Given the description of an element on the screen output the (x, y) to click on. 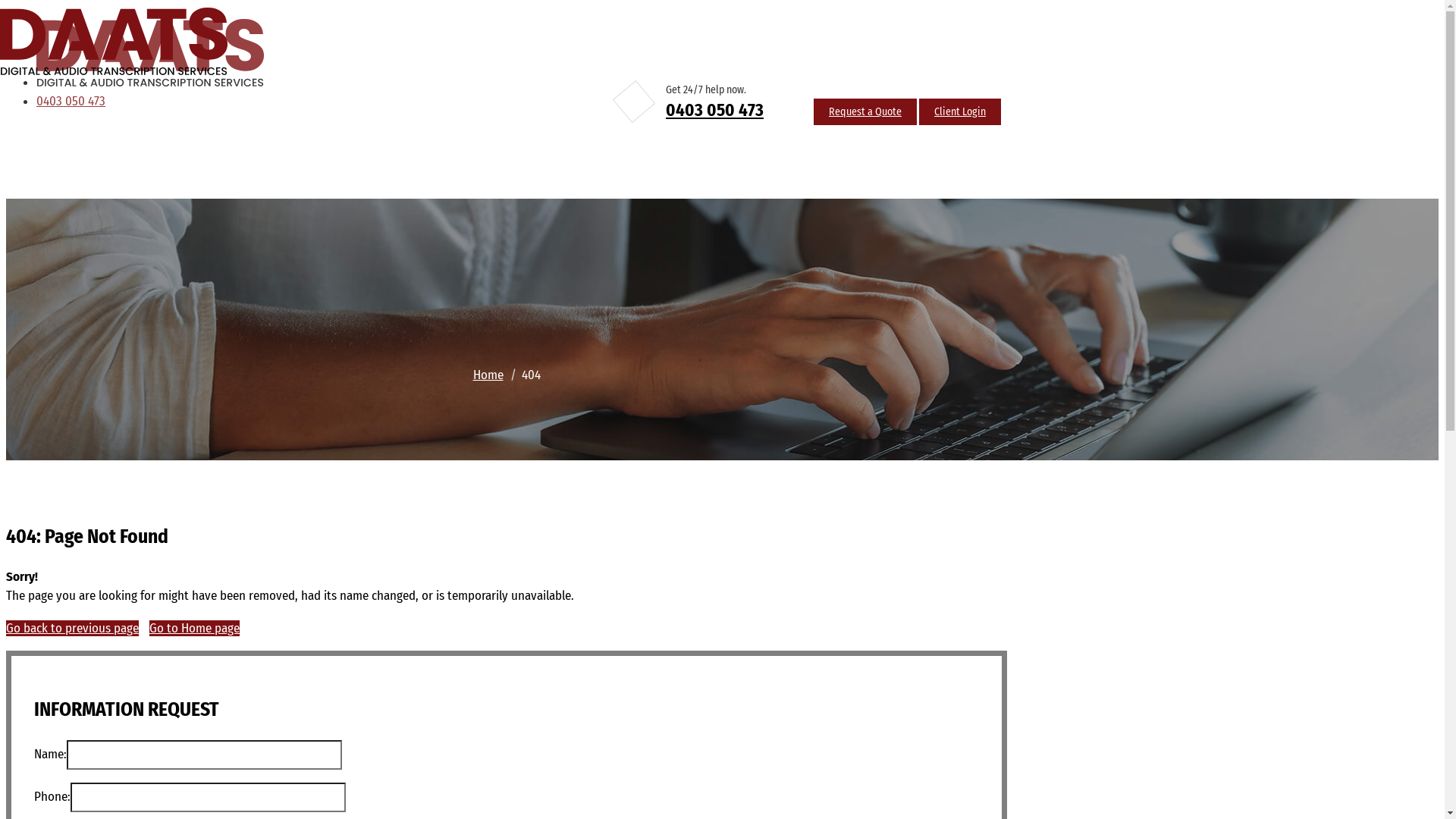
Pricing Element type: text (490, 157)
Request a Quote Element type: text (864, 111)
Go to Home page Element type: text (194, 628)
Contact Element type: text (698, 157)
Services Element type: text (423, 157)
0403 050 473 Element type: text (70, 101)
Home Element type: text (488, 374)
Go back to previous page Element type: text (72, 628)
Testimonials Element type: text (564, 157)
Careers Element type: text (640, 157)
Client Login Element type: text (960, 111)
Home Element type: text (303, 157)
About Element type: text (358, 157)
0403 050 473 Element type: text (714, 109)
